Given the description of an element on the screen output the (x, y) to click on. 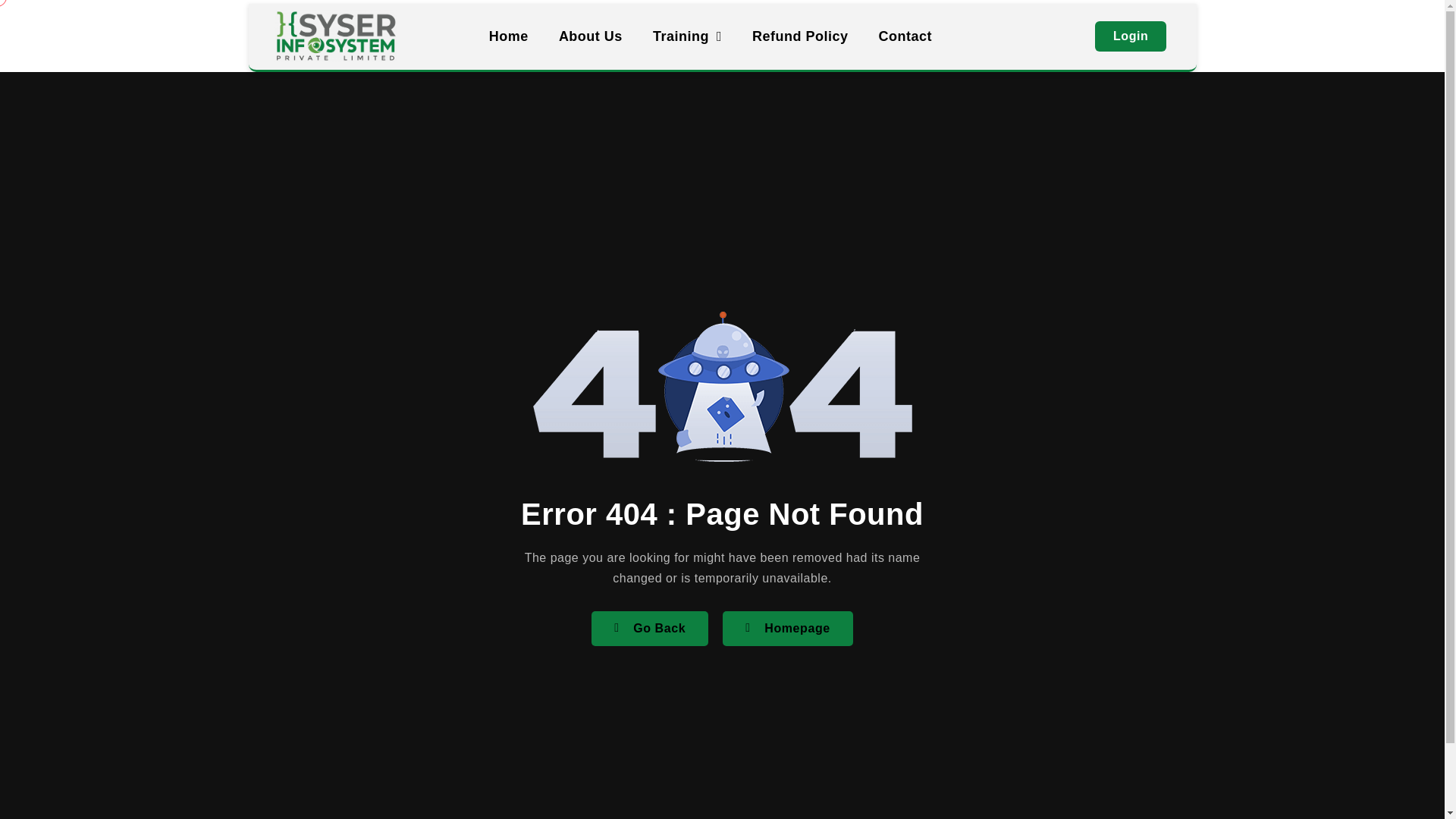
Refund Policy (799, 36)
Home (508, 36)
About Us (590, 36)
Contact (905, 36)
Training (686, 36)
